Given the description of an element on the screen output the (x, y) to click on. 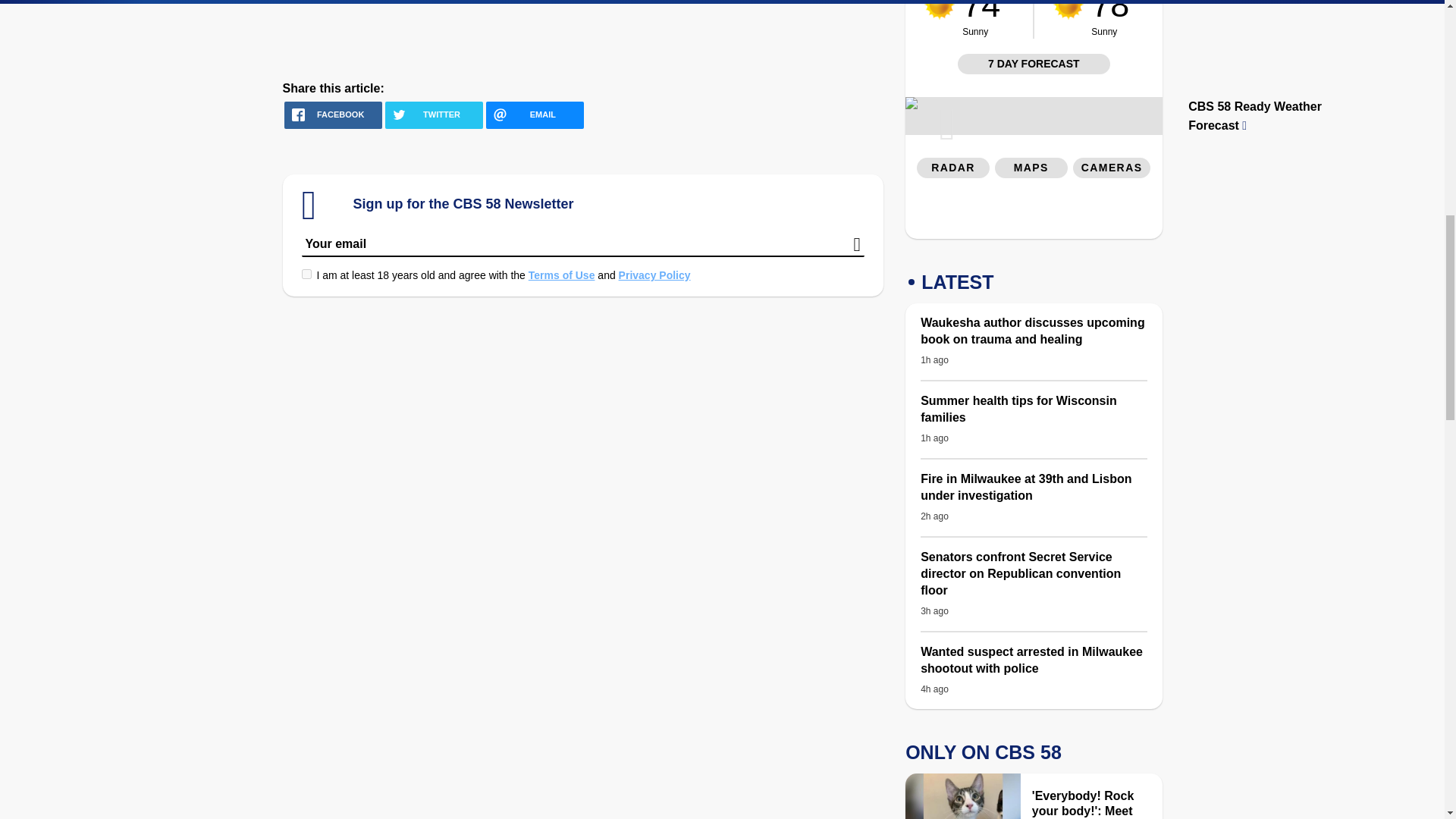
3rd party ad content (1034, 211)
weather (987, 19)
weather (1067, 9)
on (306, 274)
weather (1118, 19)
weather (939, 9)
